Given the description of an element on the screen output the (x, y) to click on. 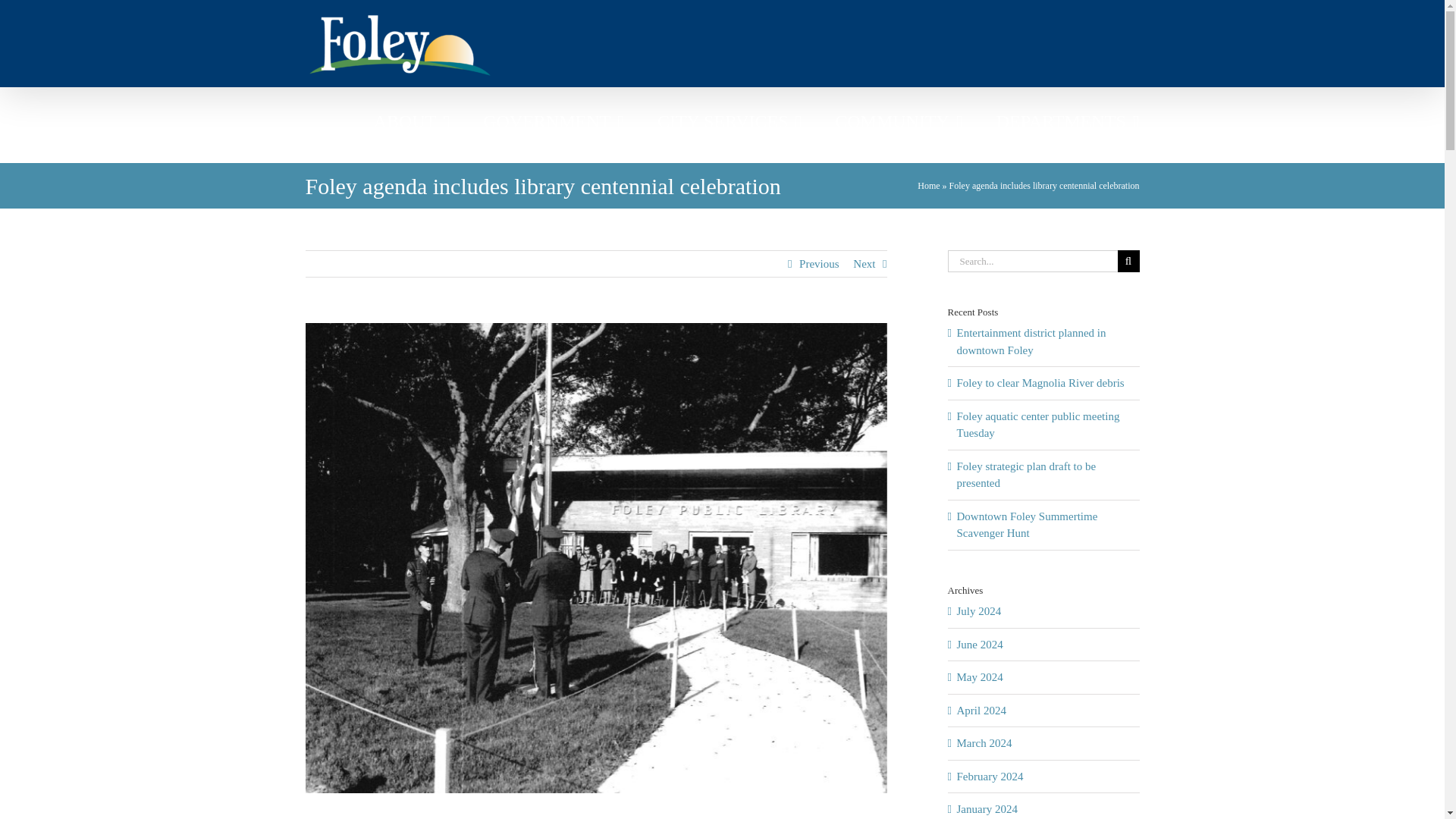
CITY SERVICES (730, 120)
COMMUNITY (898, 120)
ABOUT (411, 120)
GOVERNMENT (553, 120)
